Given the description of an element on the screen output the (x, y) to click on. 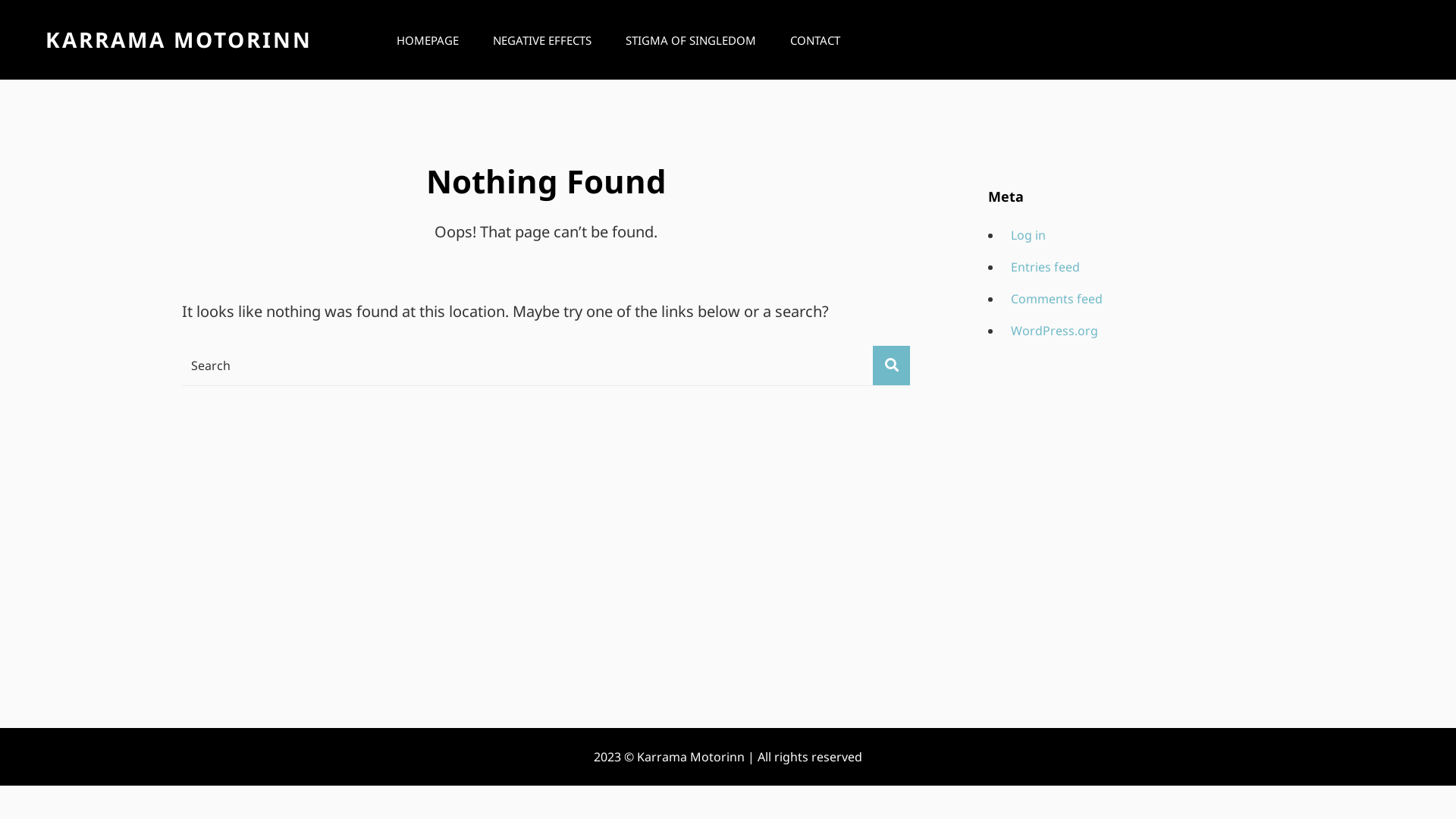
SEARCH Element type: text (1404, 39)
HOMEPAGE Element type: text (427, 40)
WordPress.org Element type: text (1051, 330)
SEARCH Element type: text (891, 365)
KARRAMA MOTORINN Element type: text (178, 39)
Log in Element type: text (1025, 234)
CONTACT Element type: text (815, 40)
NEGATIVE EFFECTS Element type: text (541, 40)
STIGMA OF SINGLEDOM Element type: text (690, 40)
Infidelity - An escorts persepective Element type: hover (1110, 529)
Entries feed Element type: text (1042, 266)
Comments feed Element type: text (1053, 298)
